Given the description of an element on the screen output the (x, y) to click on. 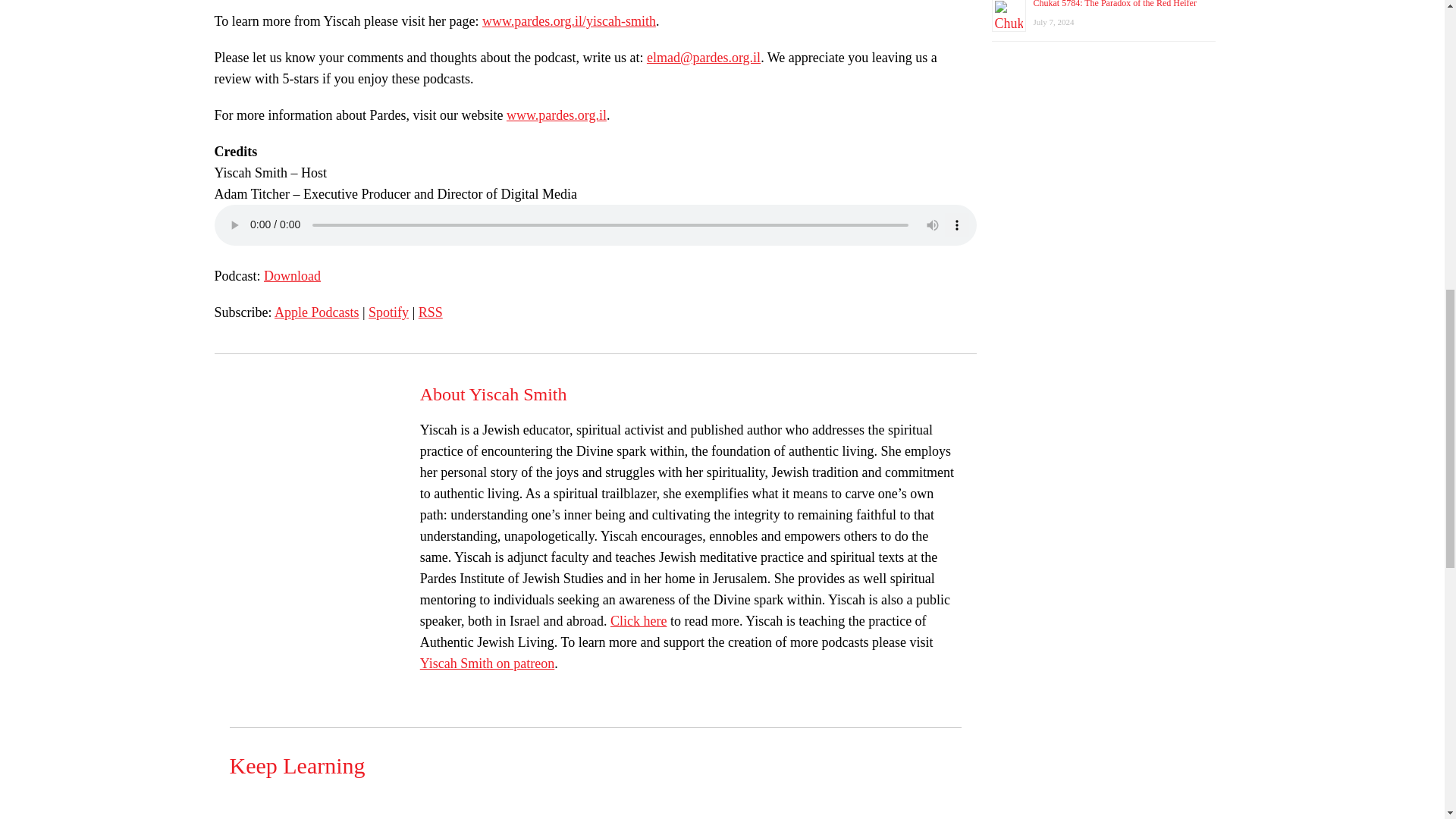
Subscribe on Spotify (388, 312)
Download (291, 275)
Subscribe via RSS (430, 312)
Subscribe on Apple Podcasts (317, 312)
